Given the description of an element on the screen output the (x, y) to click on. 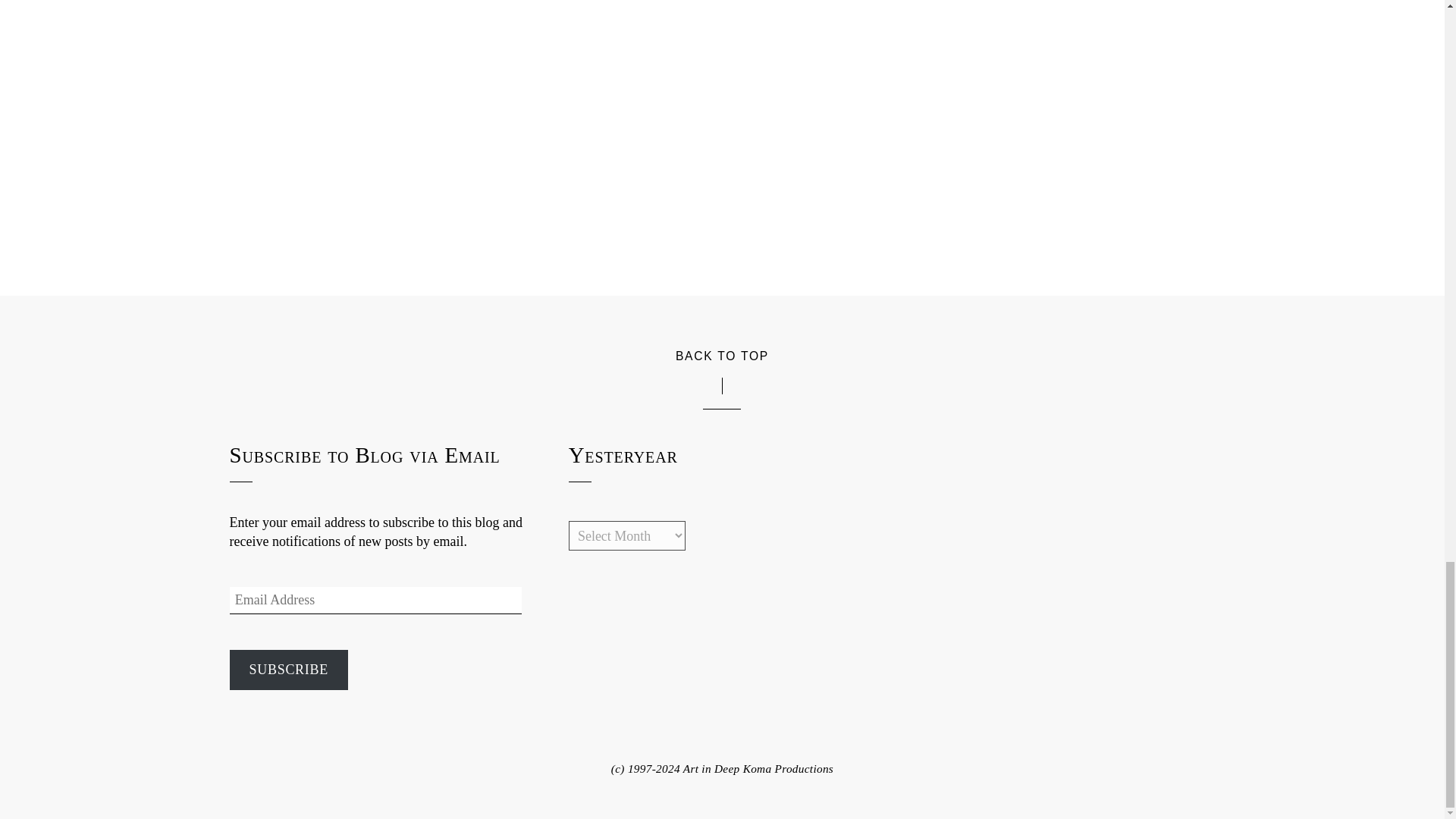
Comment Form (721, 63)
BACK TO TOP (721, 354)
SUBSCRIBE (287, 670)
